Given the description of an element on the screen output the (x, y) to click on. 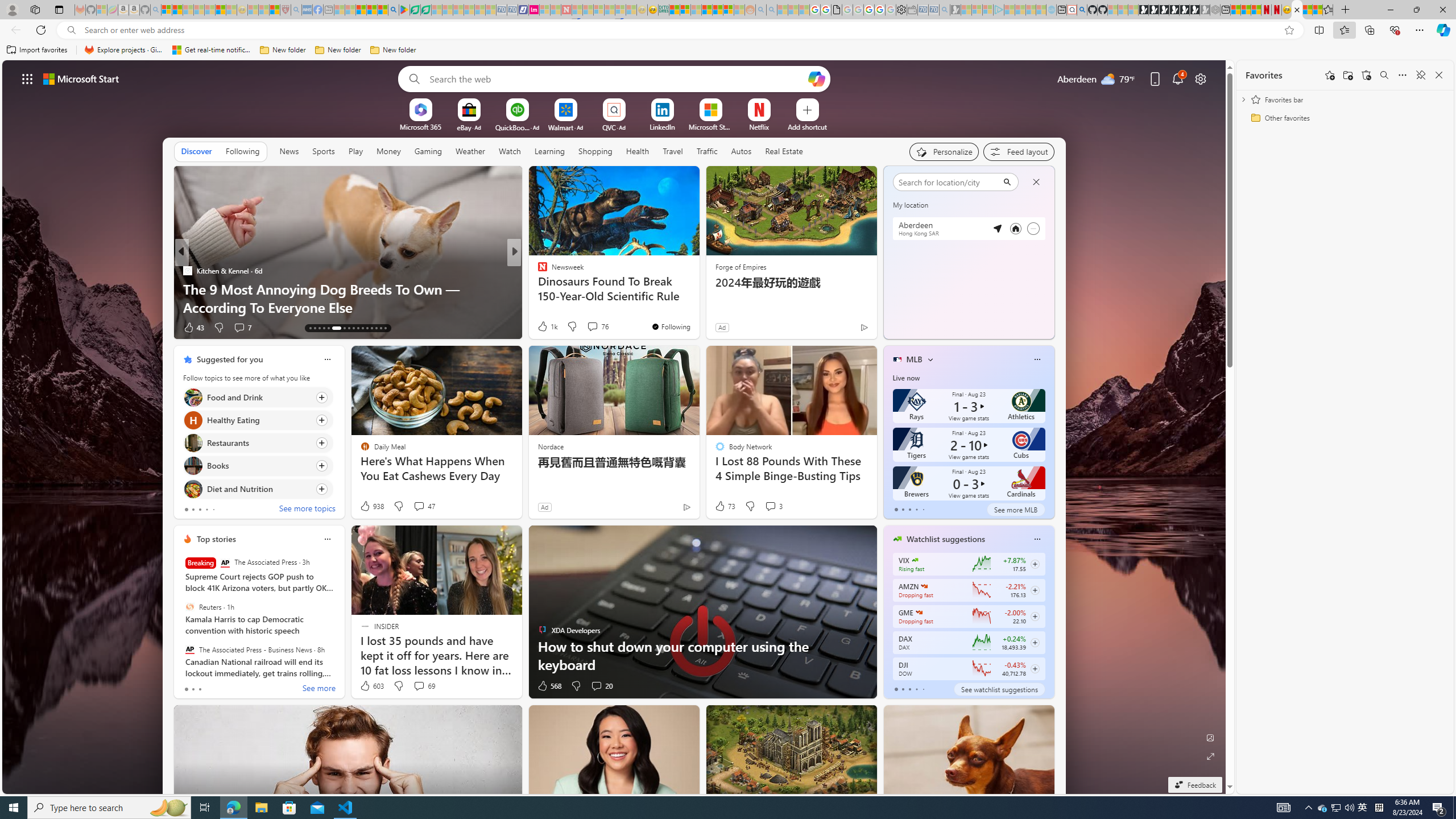
Life with Coco (537, 288)
tab-3 (916, 689)
View comments 47 Comment (419, 505)
search (947, 181)
Autos (740, 151)
Shanghai (909, 179)
INSIDER (537, 270)
